Given the description of an element on the screen output the (x, y) to click on. 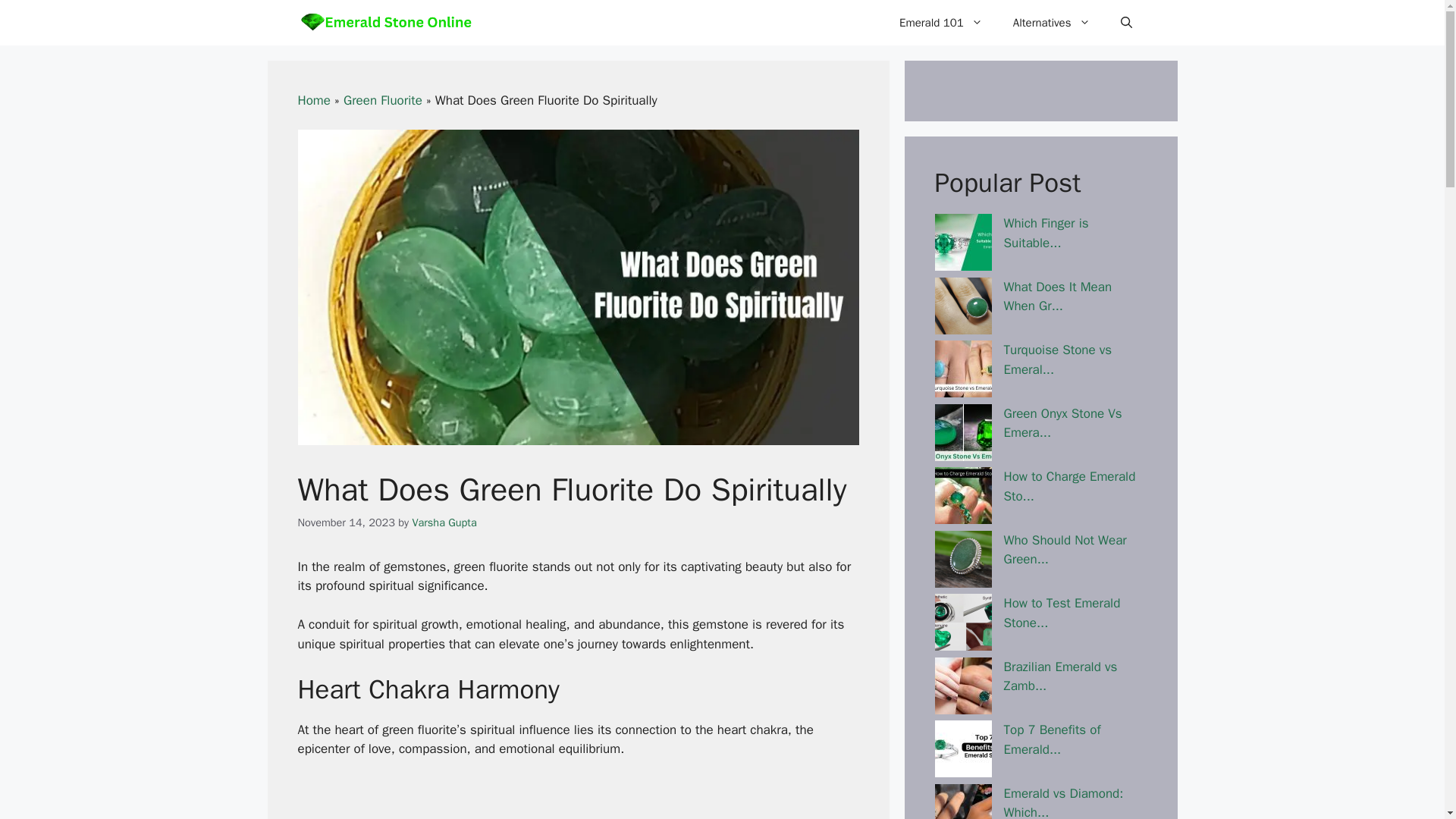
Green Fluorite (382, 100)
What Does It Mean When Gr... (1058, 296)
Who Should Not Wear Green... (1065, 550)
Which Finger is Suitable for Wearing Emerald Ring? (1046, 232)
Which Finger is Suitable... (1046, 232)
Green Onyx Stone Vs Emera... (1063, 422)
Turquoise Stone vs Emeral... (1058, 359)
Alternatives (1051, 22)
Varsha Gupta (444, 522)
View all posts by Varsha Gupta (444, 522)
How to Charge Emerald Sto... (1069, 486)
Emerald Stone (385, 22)
Home (313, 100)
What Does It Mean When Green Aventurine Breaks (1058, 296)
Advertisement (578, 798)
